Given the description of an element on the screen output the (x, y) to click on. 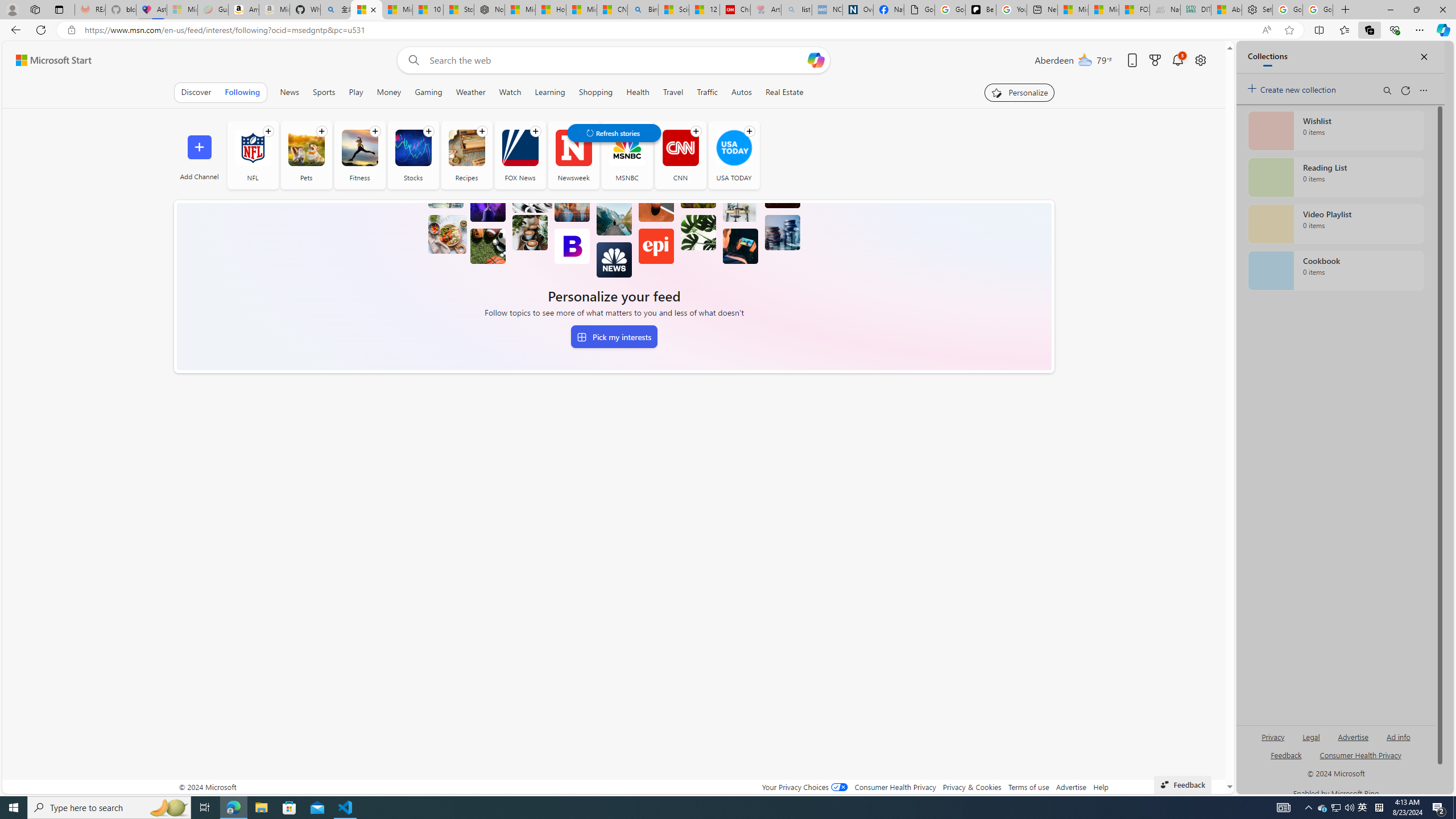
Shopping (595, 92)
Navy Quest (1164, 9)
Enter your search term (617, 59)
Real Estate (784, 92)
DITOGAMES AG Imprint (1194, 9)
Learning (549, 92)
Asthma Inhalers: Names and Types (151, 9)
Aberdeen, Hong Kong SAR hourly forecast | Microsoft Weather (1226, 9)
